Given the description of an element on the screen output the (x, y) to click on. 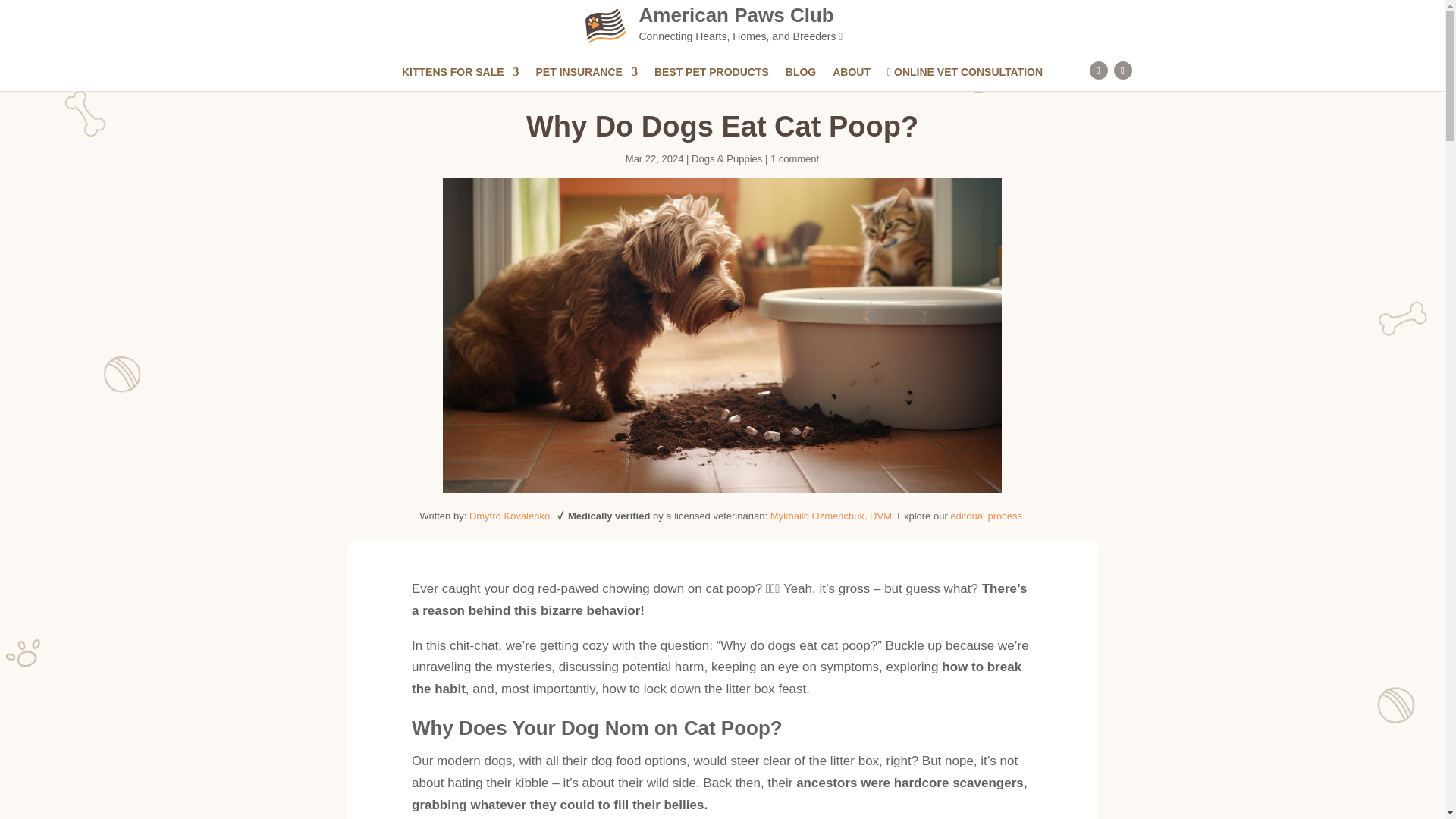
Follow on Instagram (1097, 70)
PET INSURANCE (586, 74)
ABOUT (851, 74)
BEST PET PRODUCTS (710, 74)
BLOG (800, 74)
Follow on Facebook (1122, 70)
KITTENS FOR SALE (460, 74)
